Given the description of an element on the screen output the (x, y) to click on. 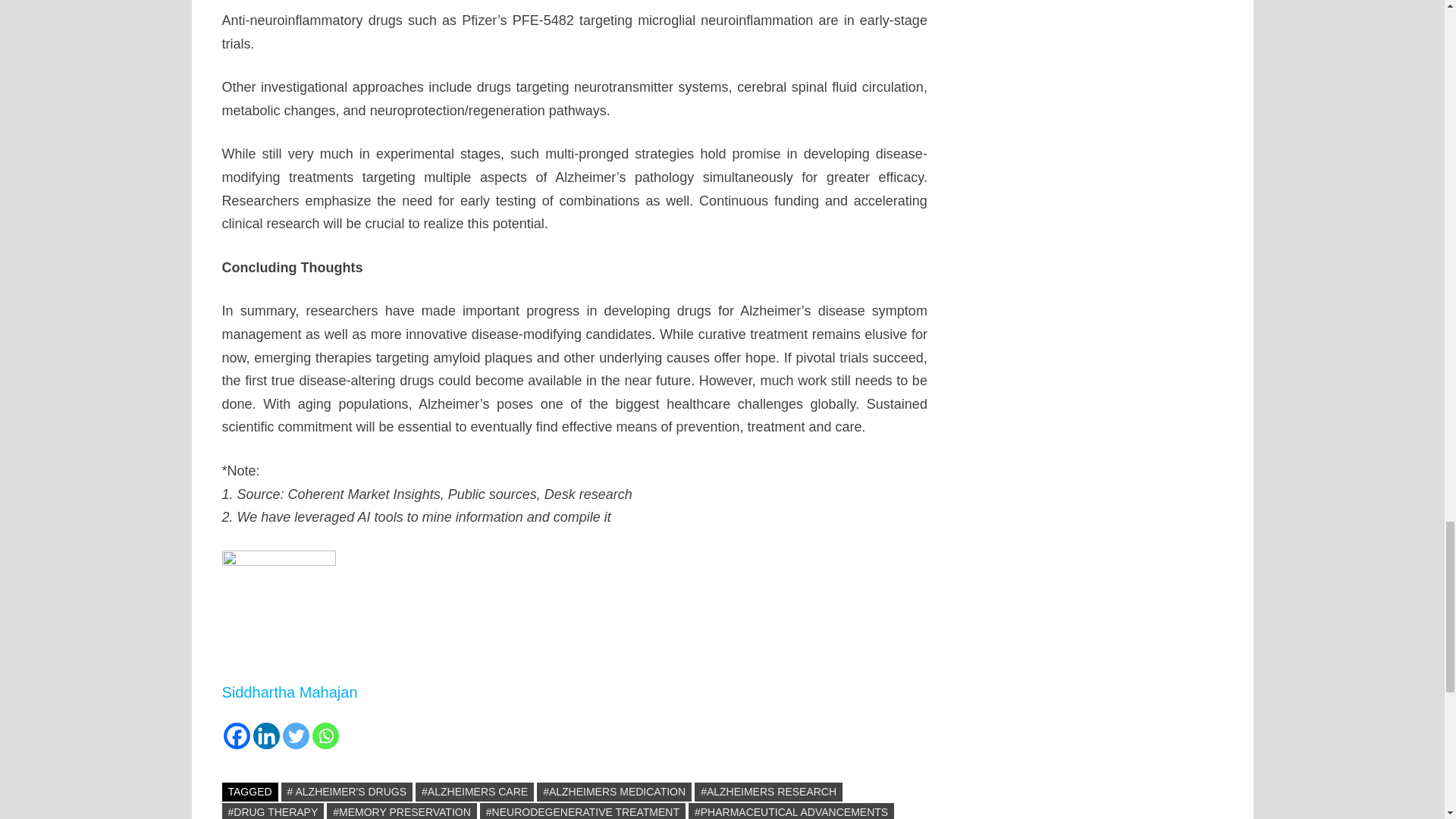
Linkedin (266, 735)
Twitter (295, 735)
Facebook (235, 735)
Whatsapp (326, 735)
